Given the description of an element on the screen output the (x, y) to click on. 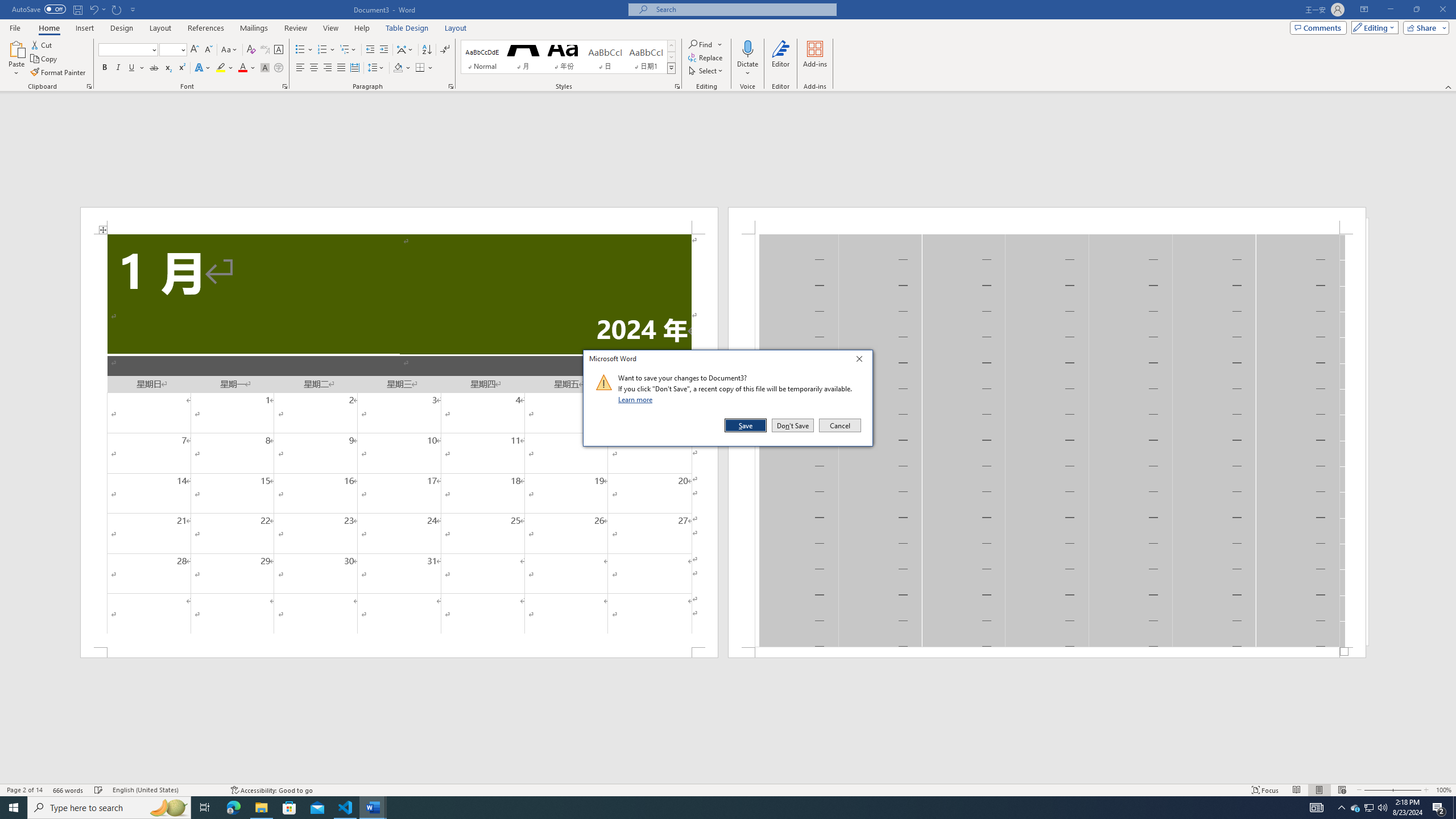
Action Center, 2 new notifications (1439, 807)
Language English (United States) (165, 790)
Ribbon Display Options (1364, 9)
Collapse the Ribbon (1448, 86)
Numbering (322, 49)
Word - 2 running windows (373, 807)
Change Case (229, 49)
Bold (104, 67)
More Options (747, 68)
Customize Quick Access Toolbar (133, 9)
Microsoft Edge (233, 807)
Save (746, 425)
